Given the description of an element on the screen output the (x, y) to click on. 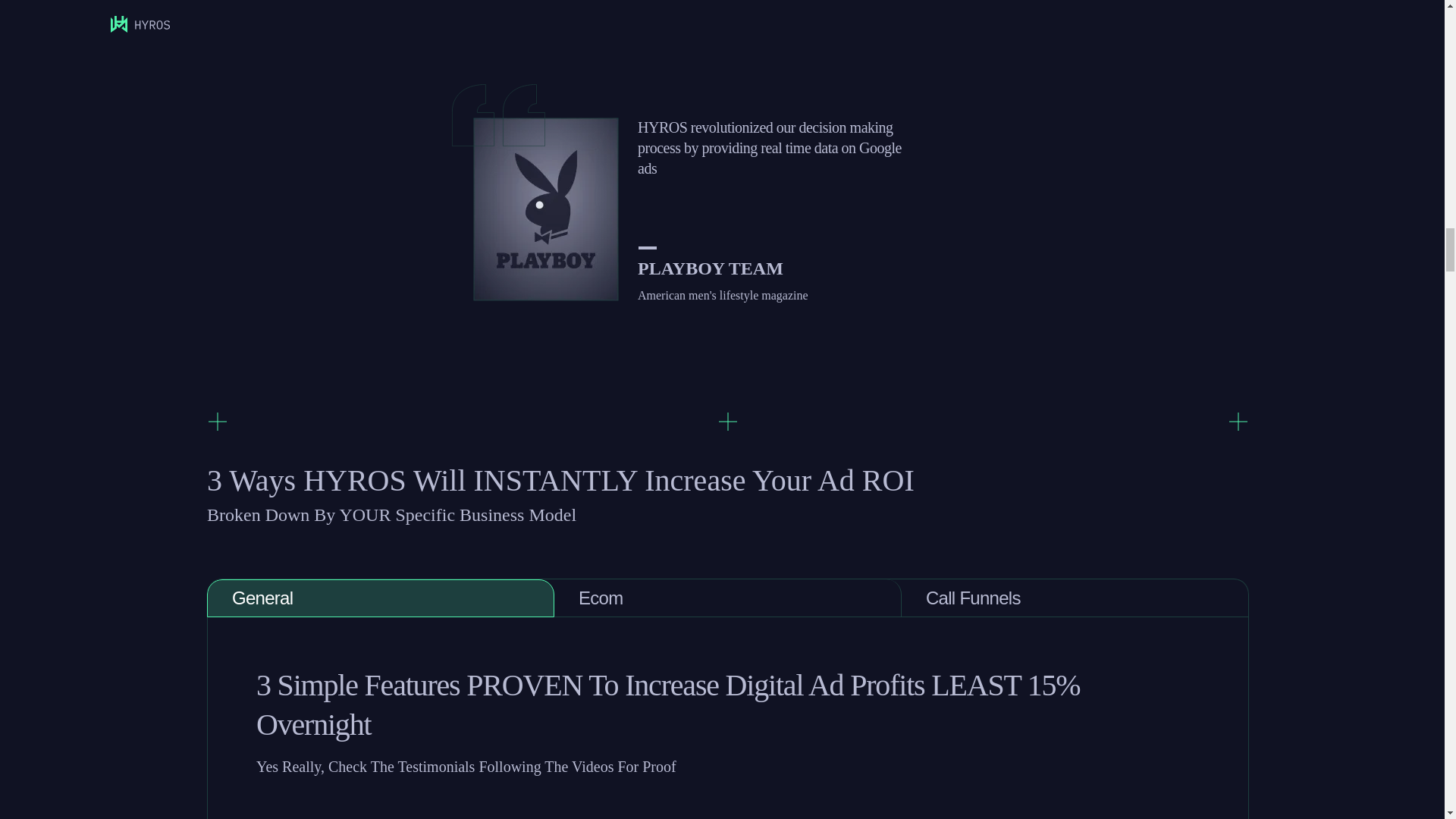
Call Funnels (1075, 598)
General (380, 598)
Ecom (727, 598)
